Given the description of an element on the screen output the (x, y) to click on. 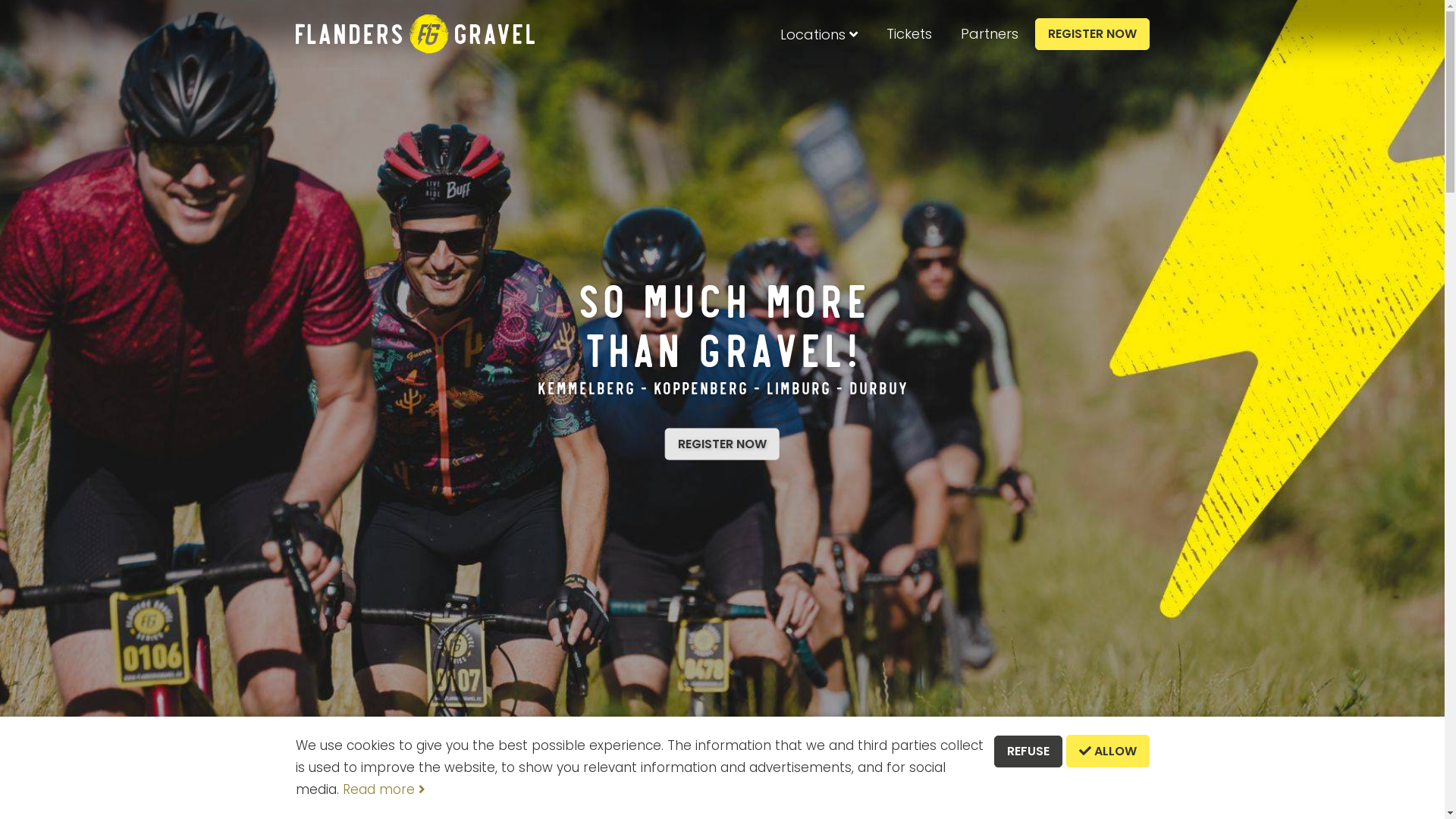
Partners Element type: text (988, 34)
FESTIVAL
vibe Element type: text (713, 787)
Read more Element type: text (383, 789)
REGISTER NOW Element type: text (1091, 34)
REFUSE Element type: text (1027, 751)
ALLOW Element type: text (1107, 750)
Tickets Element type: text (908, 34)
AWESOME
routes Element type: text (504, 787)
ONE DAY
or full weekend Element type: text (931, 787)
REGISTER NOW Element type: text (722, 444)
